Given the description of an element on the screen output the (x, y) to click on. 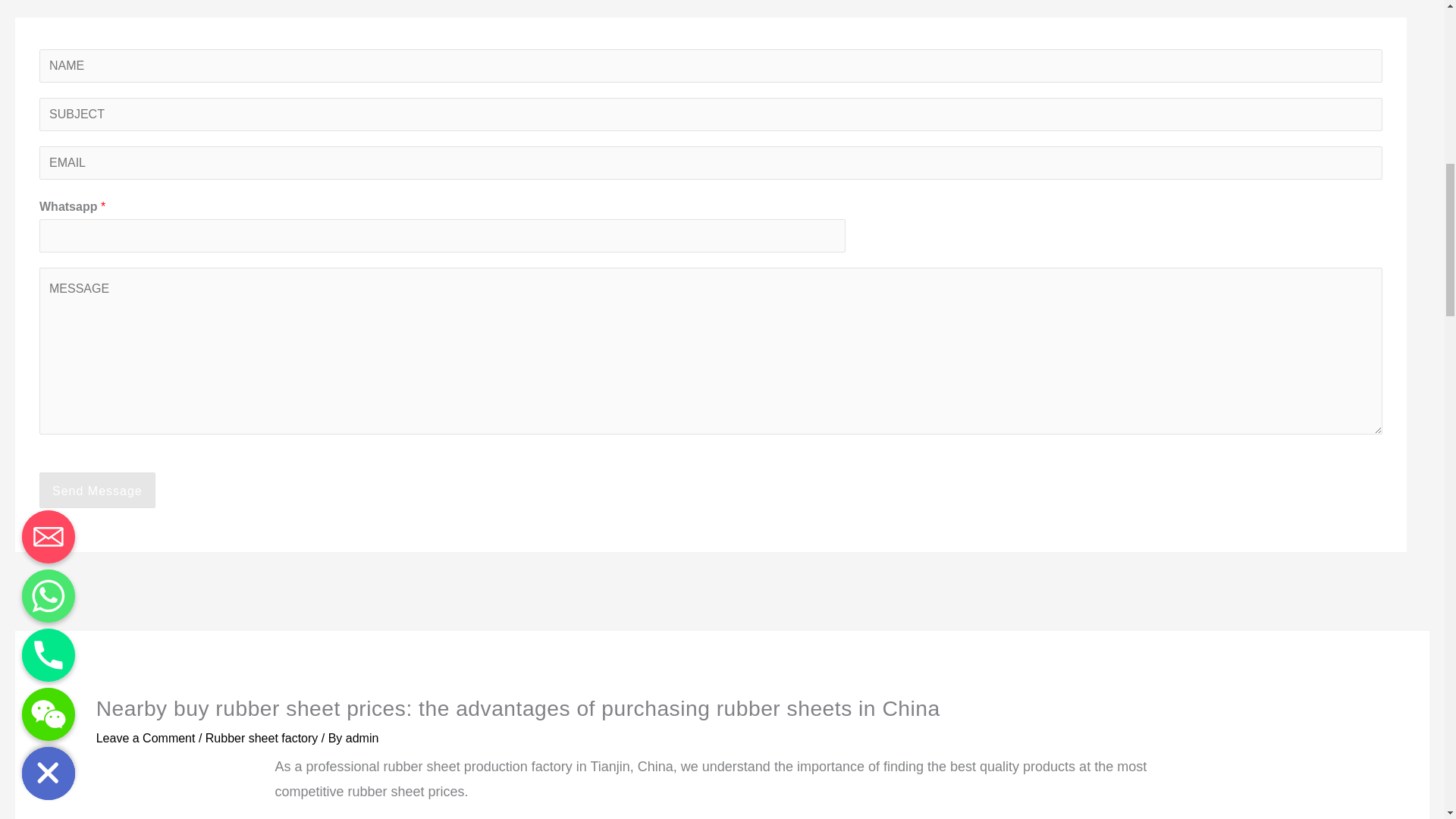
View all posts by admin (362, 738)
